Given the description of an element on the screen output the (x, y) to click on. 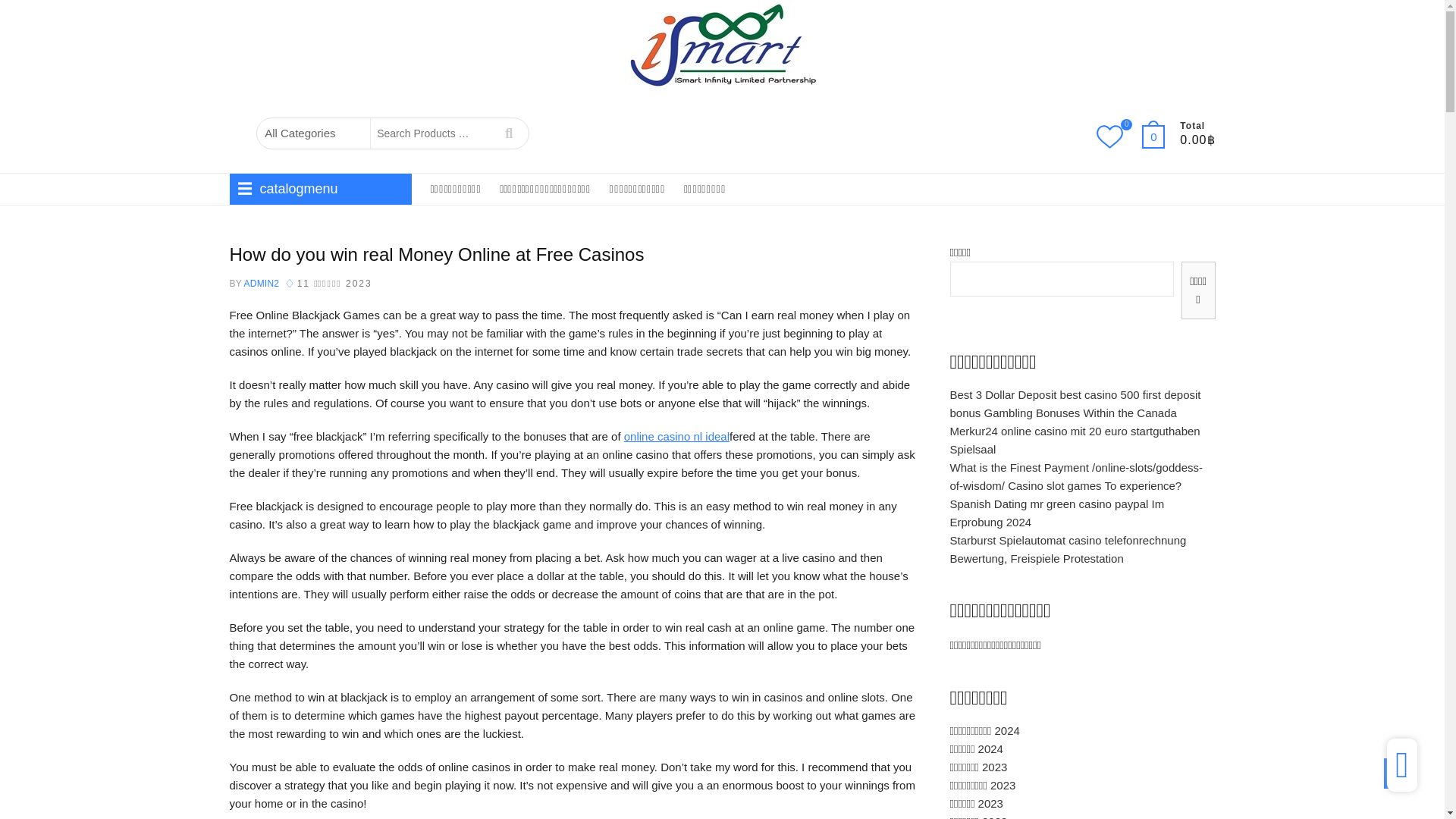
Spanish Dating mr green casino paypal Im Erprobung 2024 (1056, 512)
ADMIN2 (260, 283)
0 (1160, 136)
catalogmenu (319, 188)
online casino nl ideal (676, 436)
admin2 (260, 283)
Merkur24 online casino mit 20 euro startguthaben Spielsaal (1074, 440)
Search (508, 132)
